Given the description of an element on the screen output the (x, y) to click on. 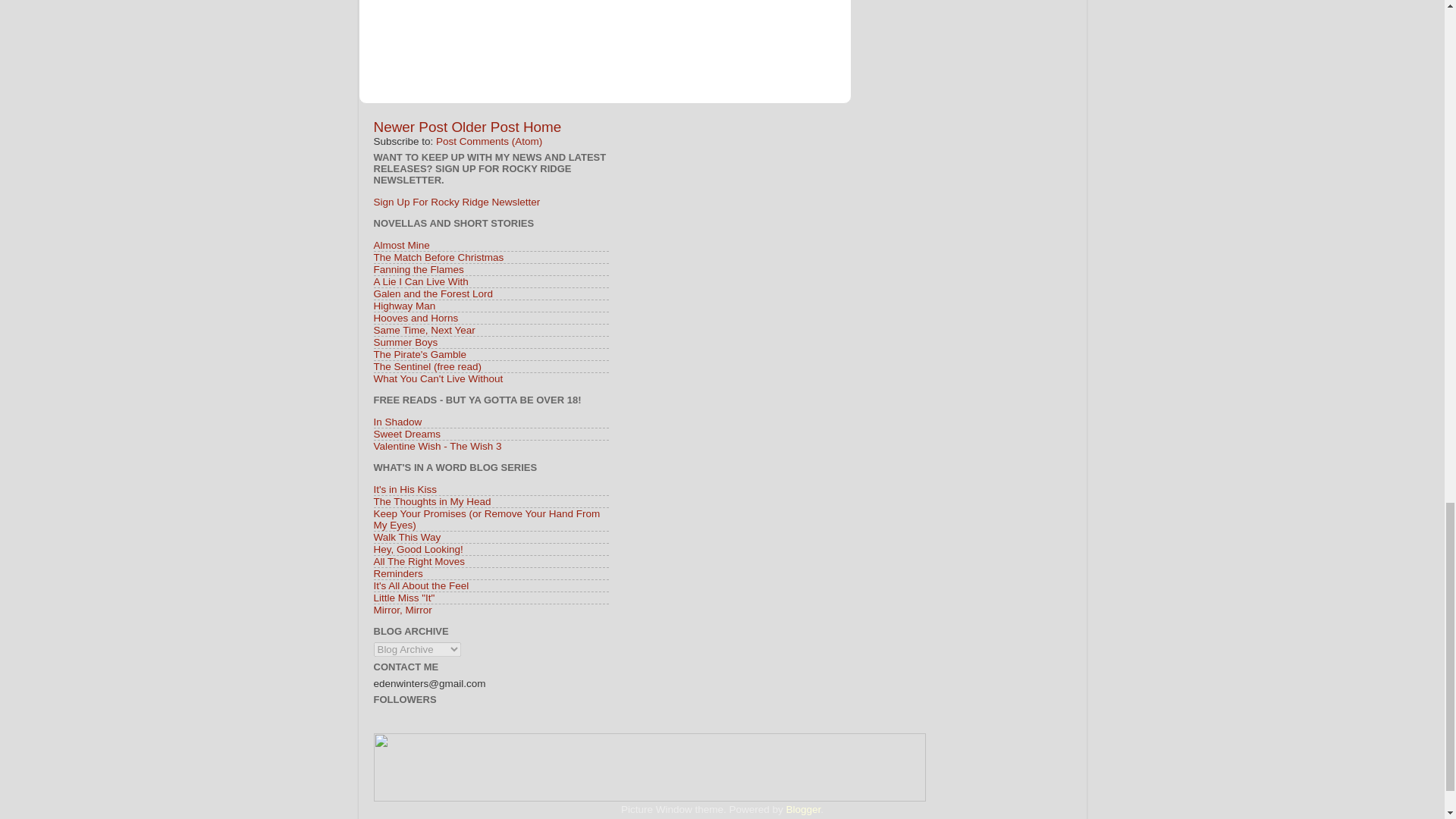
Newer Post (409, 126)
Older Post (484, 126)
